Given the description of an element on the screen output the (x, y) to click on. 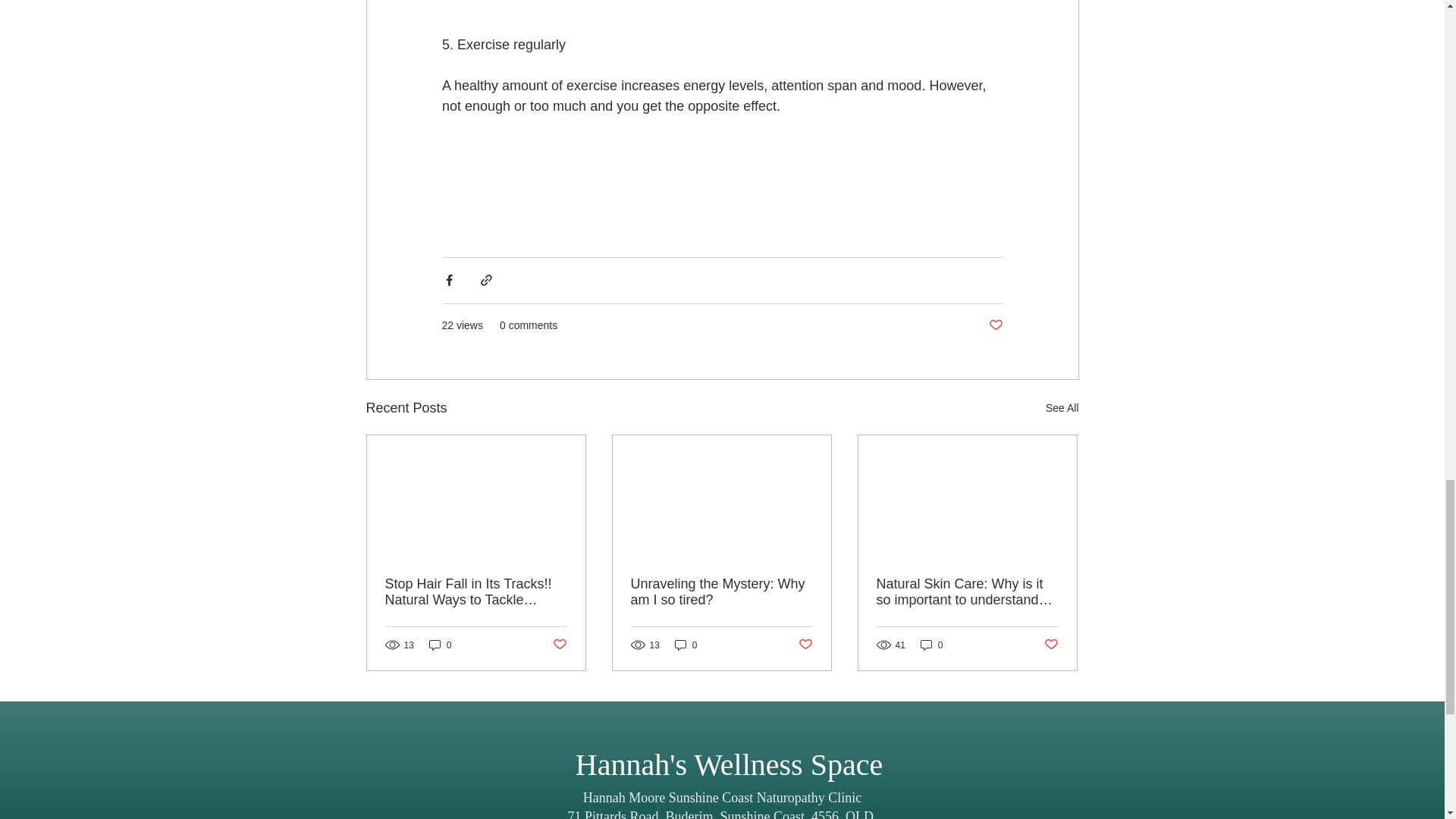
0 (440, 644)
Post not marked as liked (995, 324)
Post not marked as liked (558, 644)
See All (1061, 408)
